Given the description of an element on the screen output the (x, y) to click on. 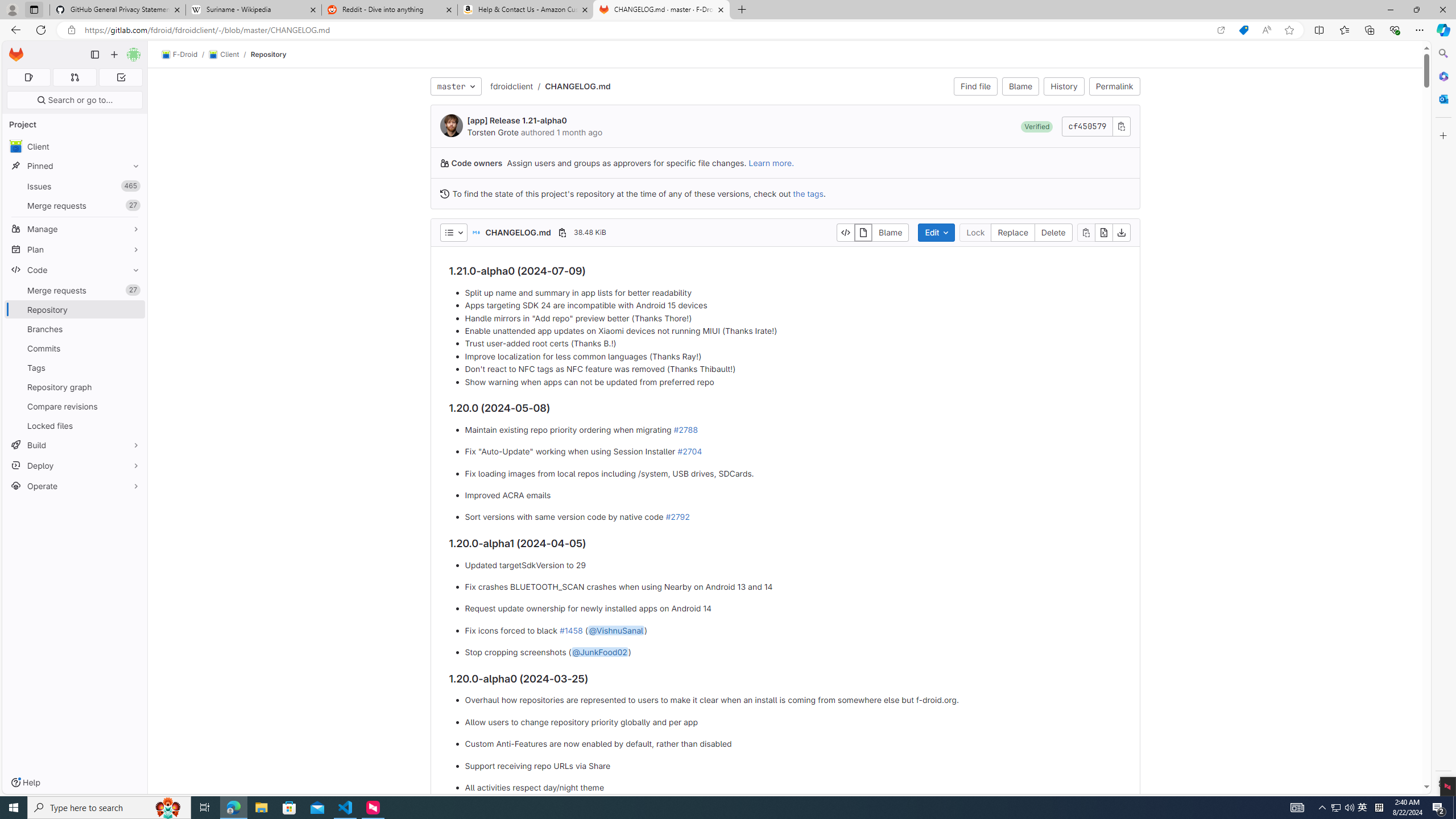
Locked files (74, 425)
Fix "Auto-Update" working when using Session Installer #2704 (792, 451)
Operate (74, 485)
Pin Commits (132, 348)
Manage (74, 228)
History (1063, 85)
Display rendered file (863, 232)
Blame (891, 232)
Locked files (74, 425)
Copy file path (562, 232)
